Given the description of an element on the screen output the (x, y) to click on. 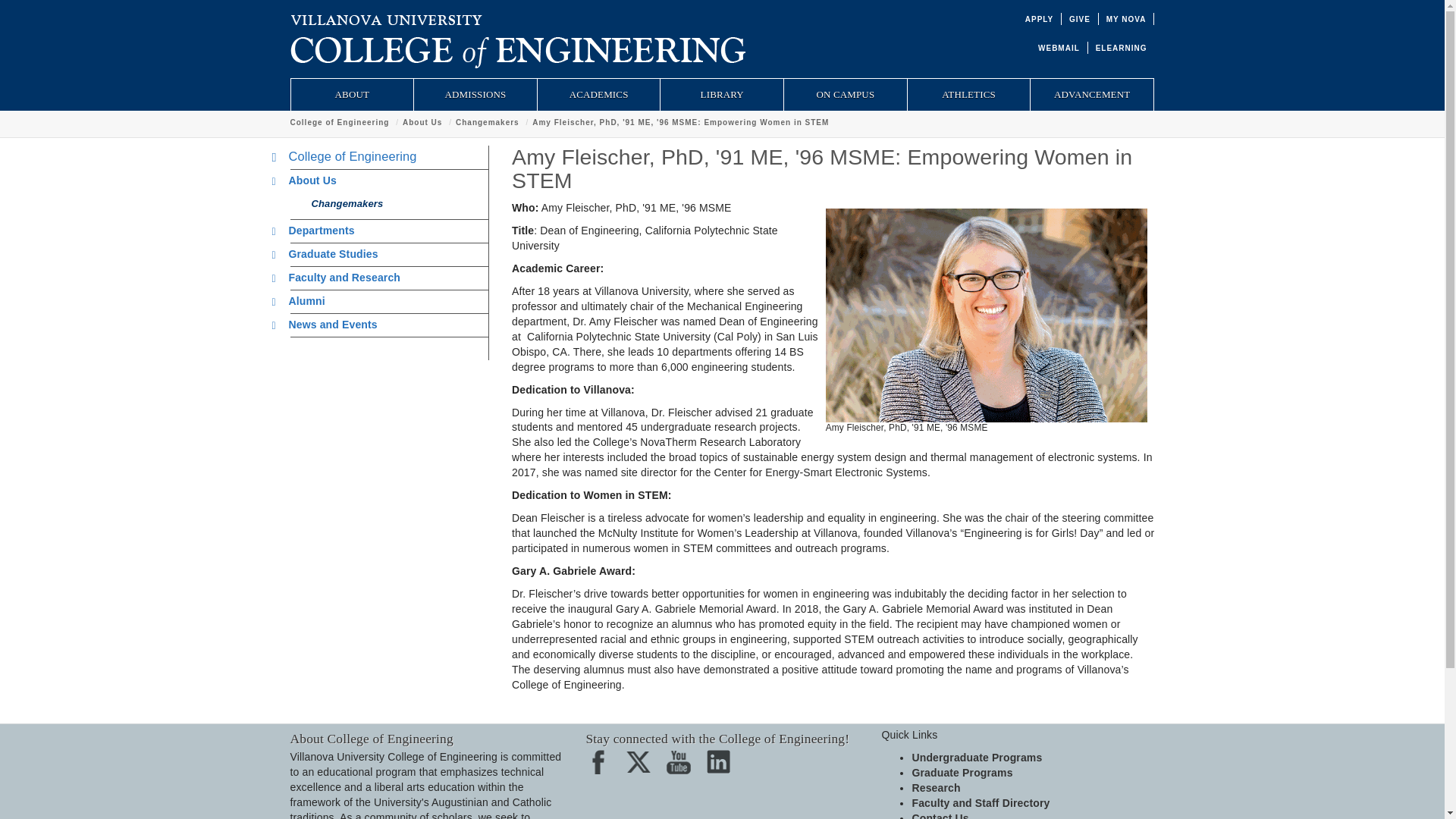
Faculty and Research (340, 277)
WEBMAIL (1059, 48)
YouTube (683, 766)
News and Events (329, 324)
ACADEMICS (599, 94)
Changemakers (487, 121)
Alumni (302, 300)
Changemakers (342, 203)
Twitter (643, 766)
Departments (317, 230)
ON CAMPUS (845, 94)
Facebook (602, 766)
About Us (308, 180)
ADVANCEMENT (1091, 94)
